Given the description of an element on the screen output the (x, y) to click on. 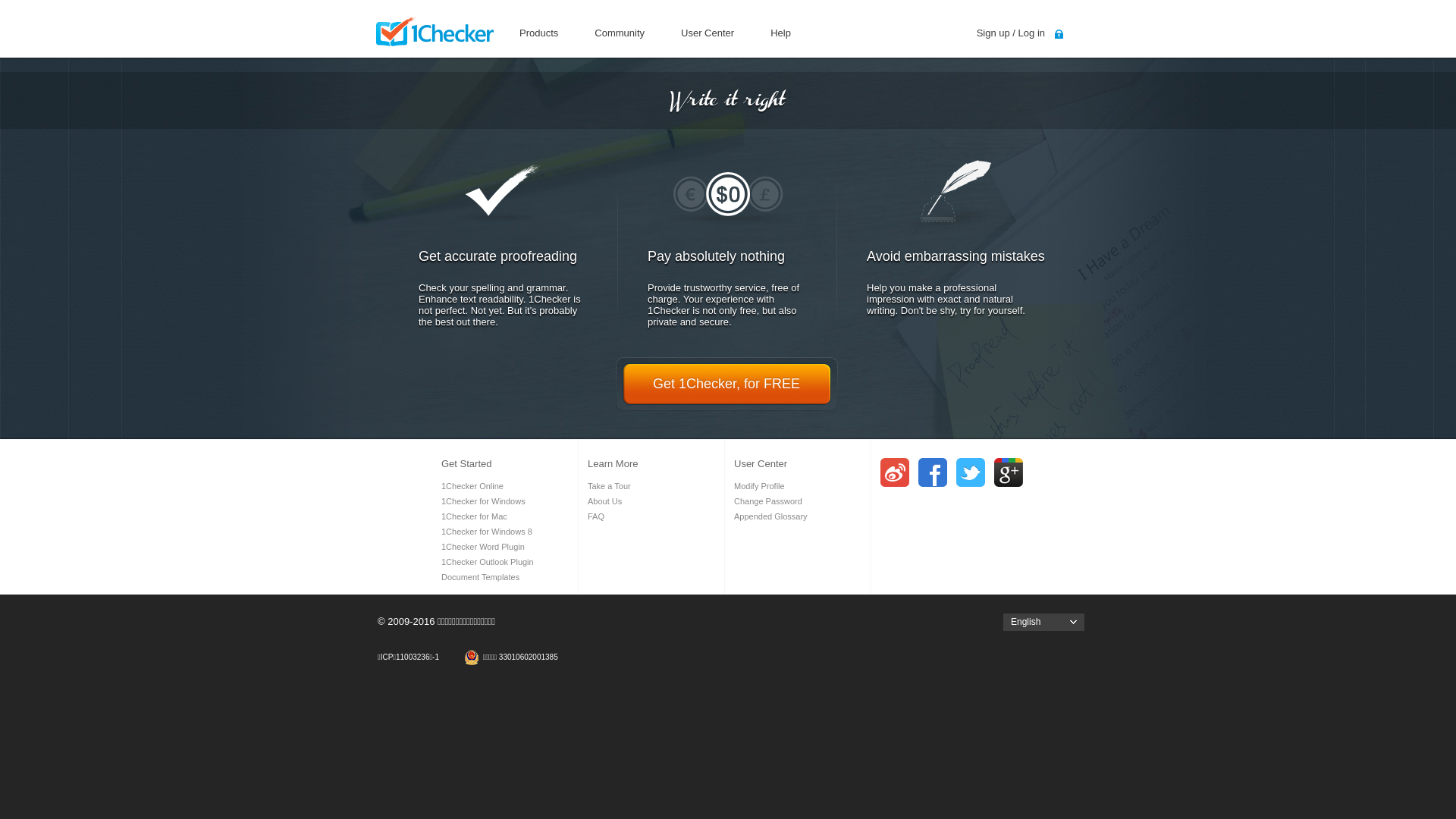
About Us Element type: text (604, 500)
Community Element type: text (622, 36)
Document Templates Element type: text (480, 576)
Log in Element type: text (1031, 32)
FAQ Element type: text (595, 515)
1Checker Word Plugin Element type: text (482, 546)
Appended Glossary Element type: text (770, 515)
1Checker Online Element type: text (472, 485)
1Checker for Windows 8 Element type: text (486, 531)
1Checker Outlook Plugin Element type: text (487, 561)
Get 1Checker, for FREE Element type: text (726, 384)
Help Element type: text (783, 36)
Take a Tour Element type: text (608, 485)
1Checker for Windows Element type: text (483, 500)
User Center Element type: text (710, 36)
Modify Profile Element type: text (759, 485)
Change Password Element type: text (768, 500)
Products Element type: text (541, 36)
Sign up Element type: text (993, 32)
1Checker for Mac Element type: text (474, 515)
